Given the description of an element on the screen output the (x, y) to click on. 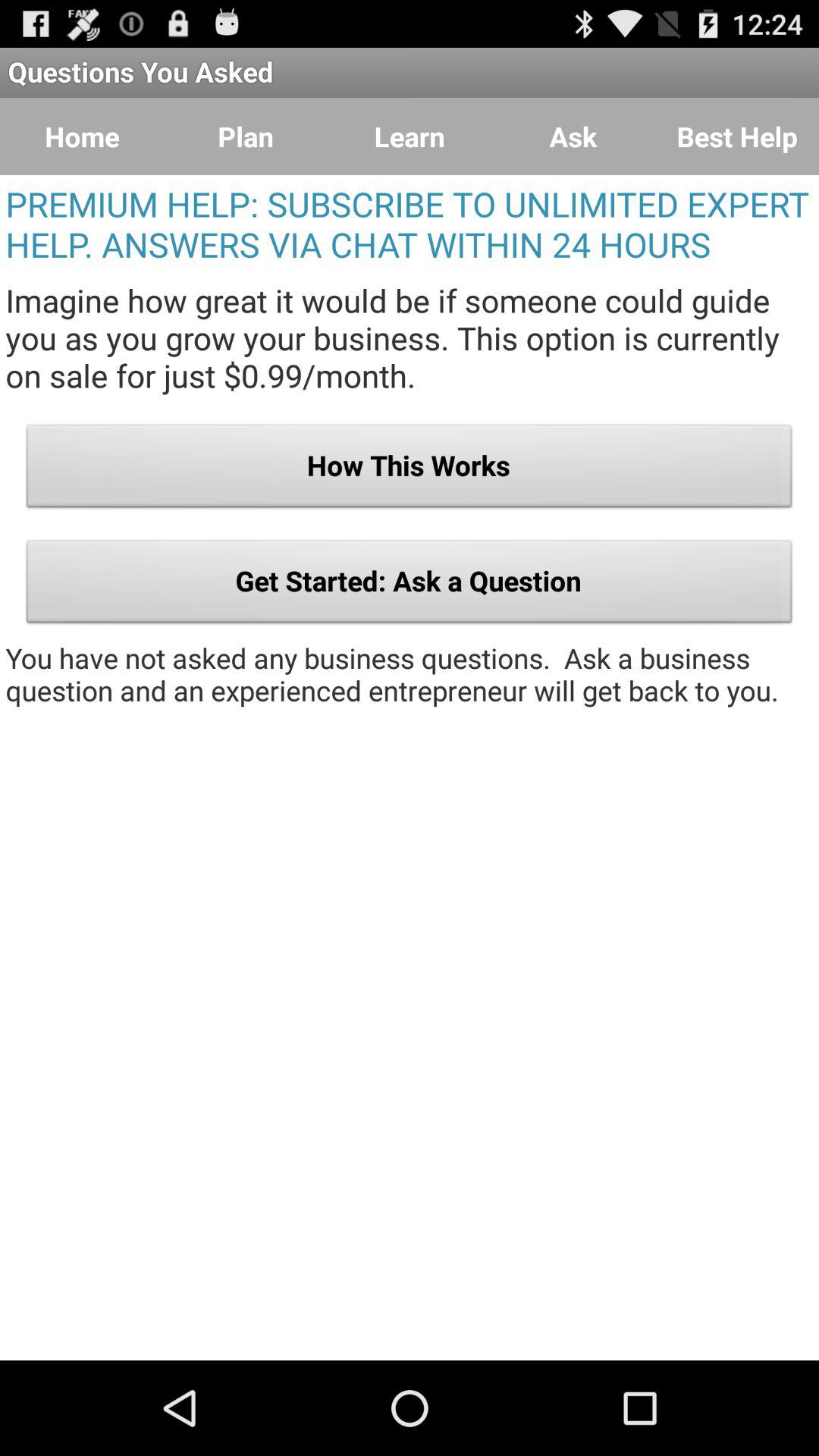
open icon next to home item (245, 136)
